Given the description of an element on the screen output the (x, y) to click on. 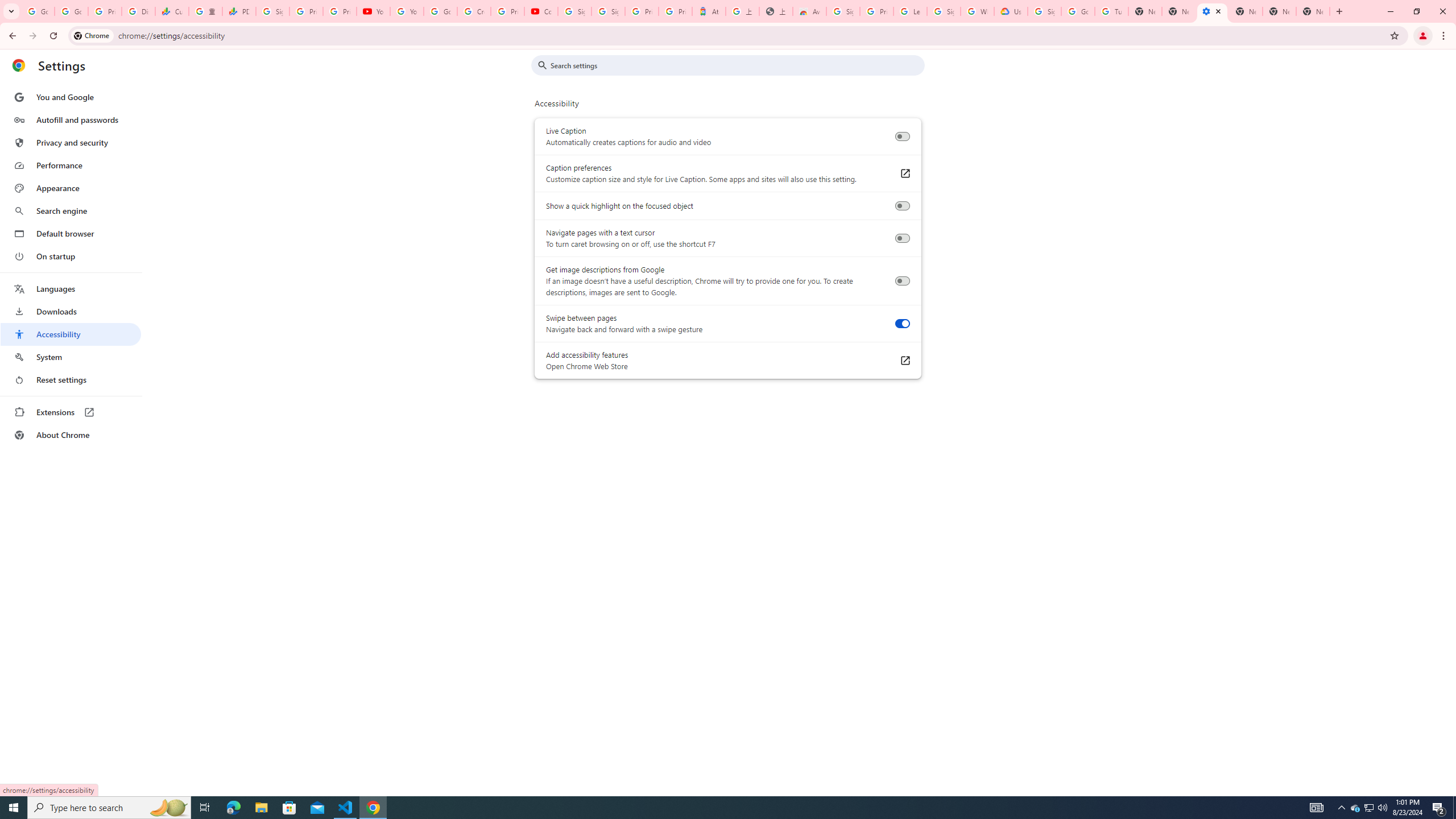
Default browser (70, 233)
Search settings (735, 65)
AutomationID: menu (71, 265)
New Tab (1246, 11)
Privacy and security (70, 142)
Navigate pages with a text cursor (901, 238)
Appearance (70, 187)
Atour Hotel - Google hotels (708, 11)
